Given the description of an element on the screen output the (x, y) to click on. 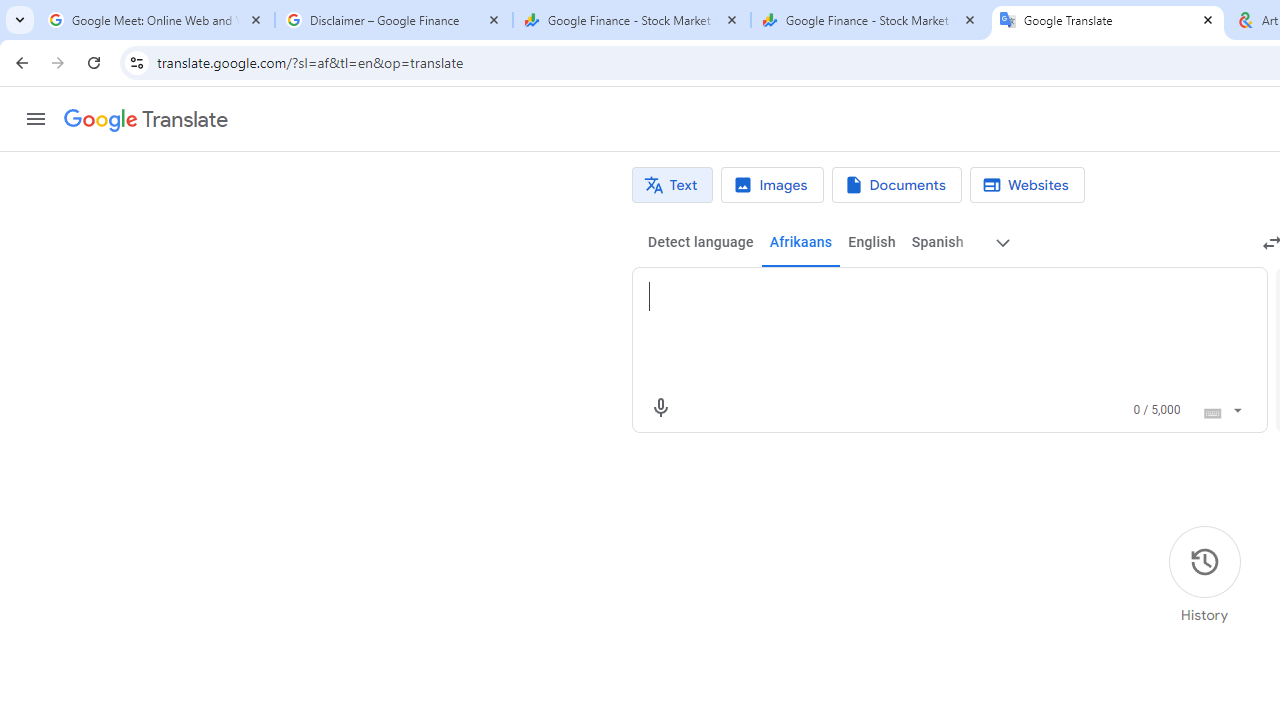
Show the Input Tools menu (1236, 407)
